Given the description of an element on the screen output the (x, y) to click on. 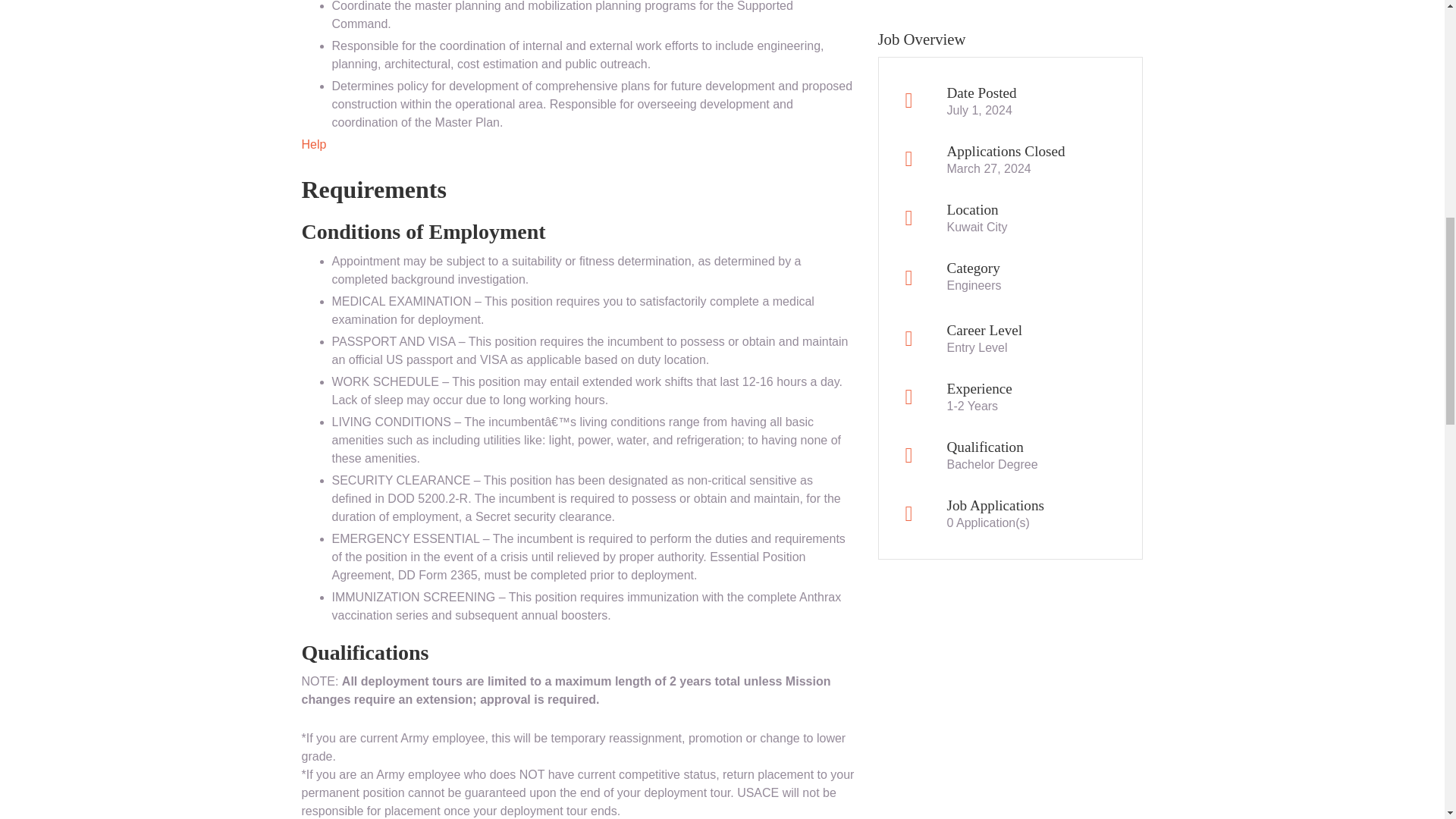
Help (313, 144)
